Given the description of an element on the screen output the (x, y) to click on. 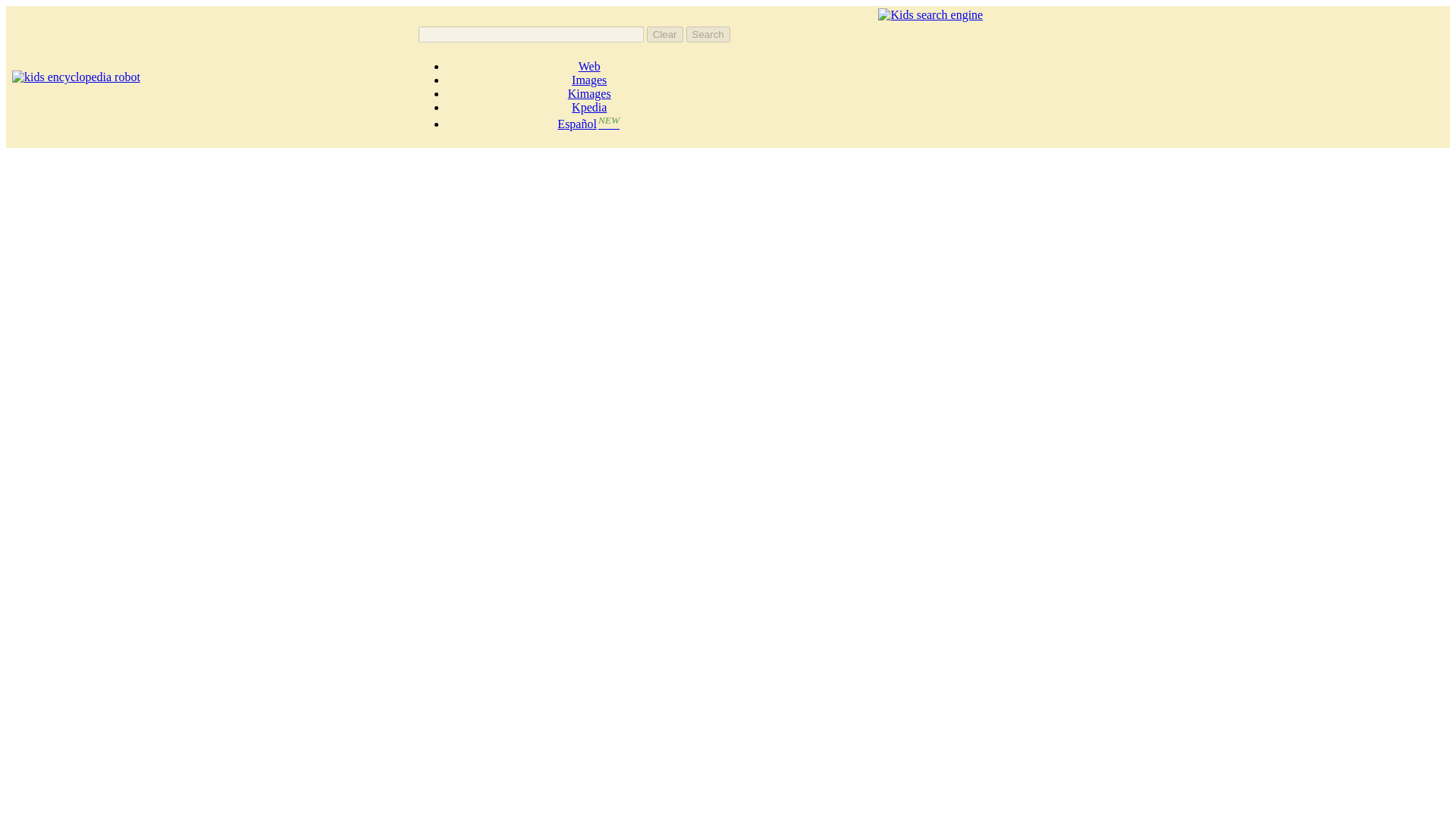
Web (588, 65)
Kpedia (589, 106)
Images (589, 79)
Clear (664, 34)
Kimages (589, 92)
Search (707, 34)
